Given the description of an element on the screen output the (x, y) to click on. 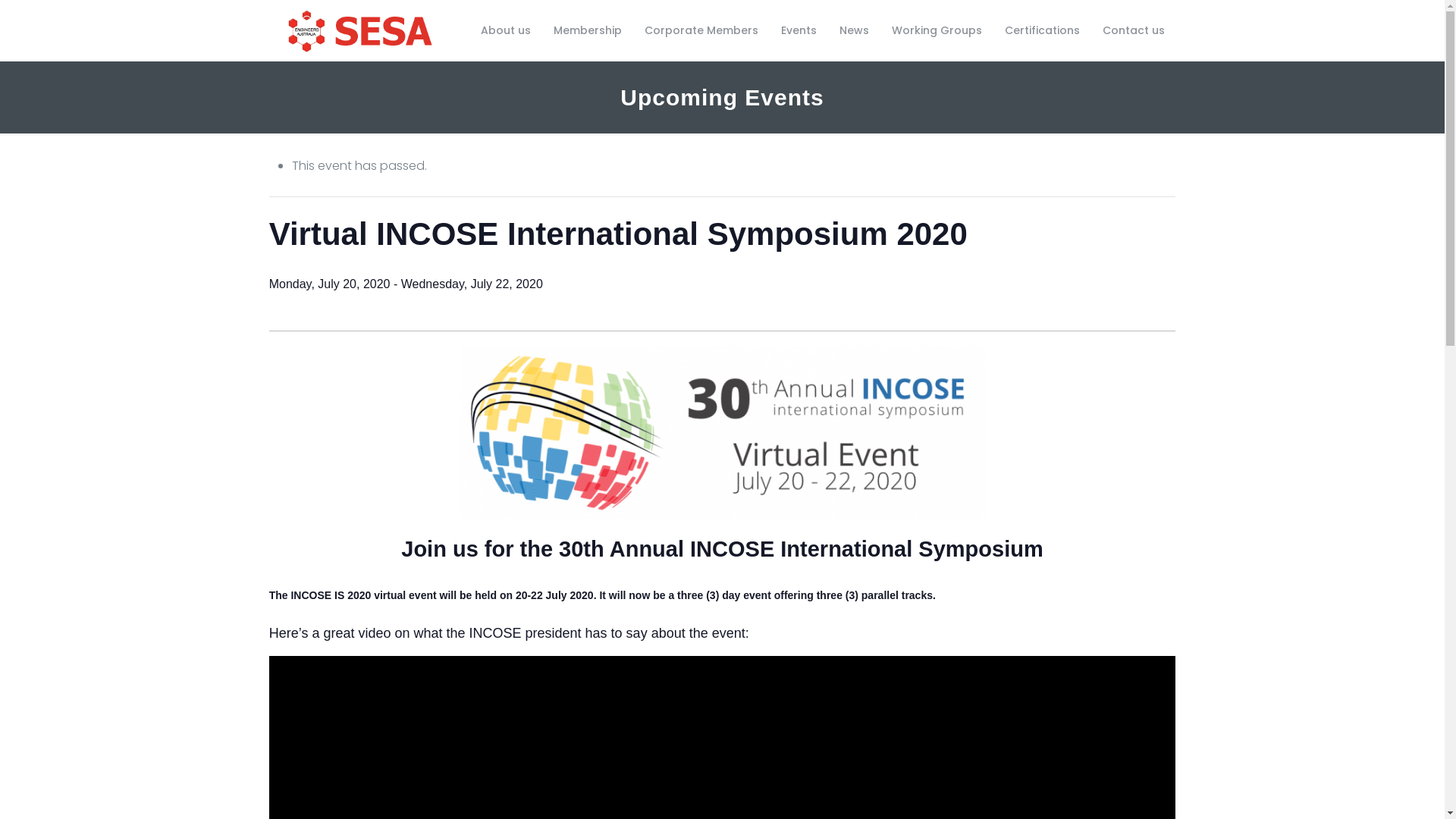
Contact us Element type: text (1133, 30)
Systems Engineering Society of Australia Element type: hover (360, 30)
Membership Element type: text (587, 30)
Corporate Members Element type: text (701, 30)
About us Element type: text (505, 30)
News Element type: text (854, 30)
Working Groups Element type: text (936, 30)
Events Element type: text (798, 30)
Certifications Element type: text (1042, 30)
